Given the description of an element on the screen output the (x, y) to click on. 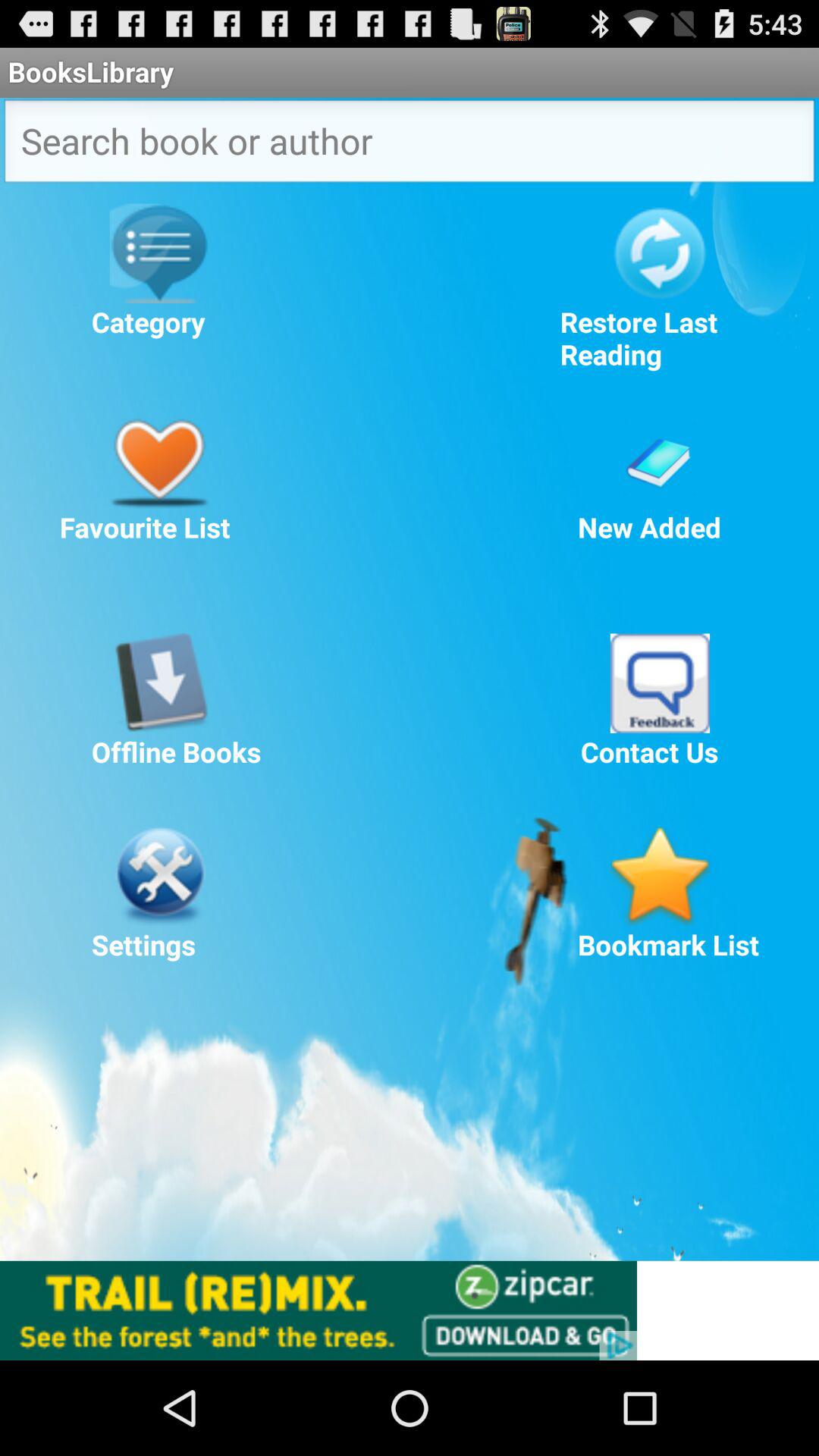
go bookmark list (659, 875)
